Given the description of an element on the screen output the (x, y) to click on. 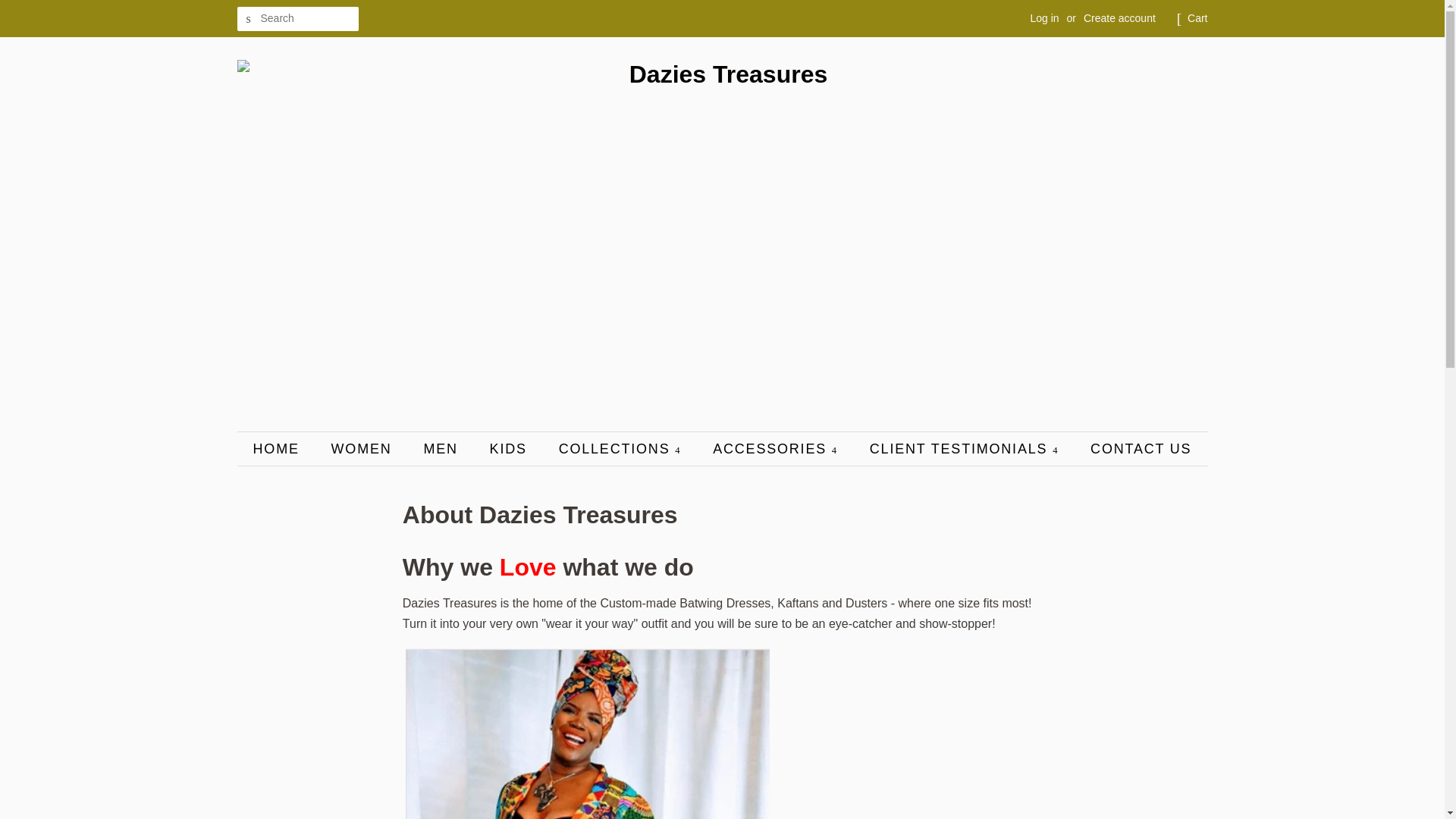
WOMEN (363, 449)
Create account (1119, 18)
MEN (441, 449)
Log in (1043, 18)
COLLECTIONS (622, 449)
HOME (283, 449)
Cart (1197, 18)
SEARCH (247, 18)
KIDS (510, 449)
